Given the description of an element on the screen output the (x, y) to click on. 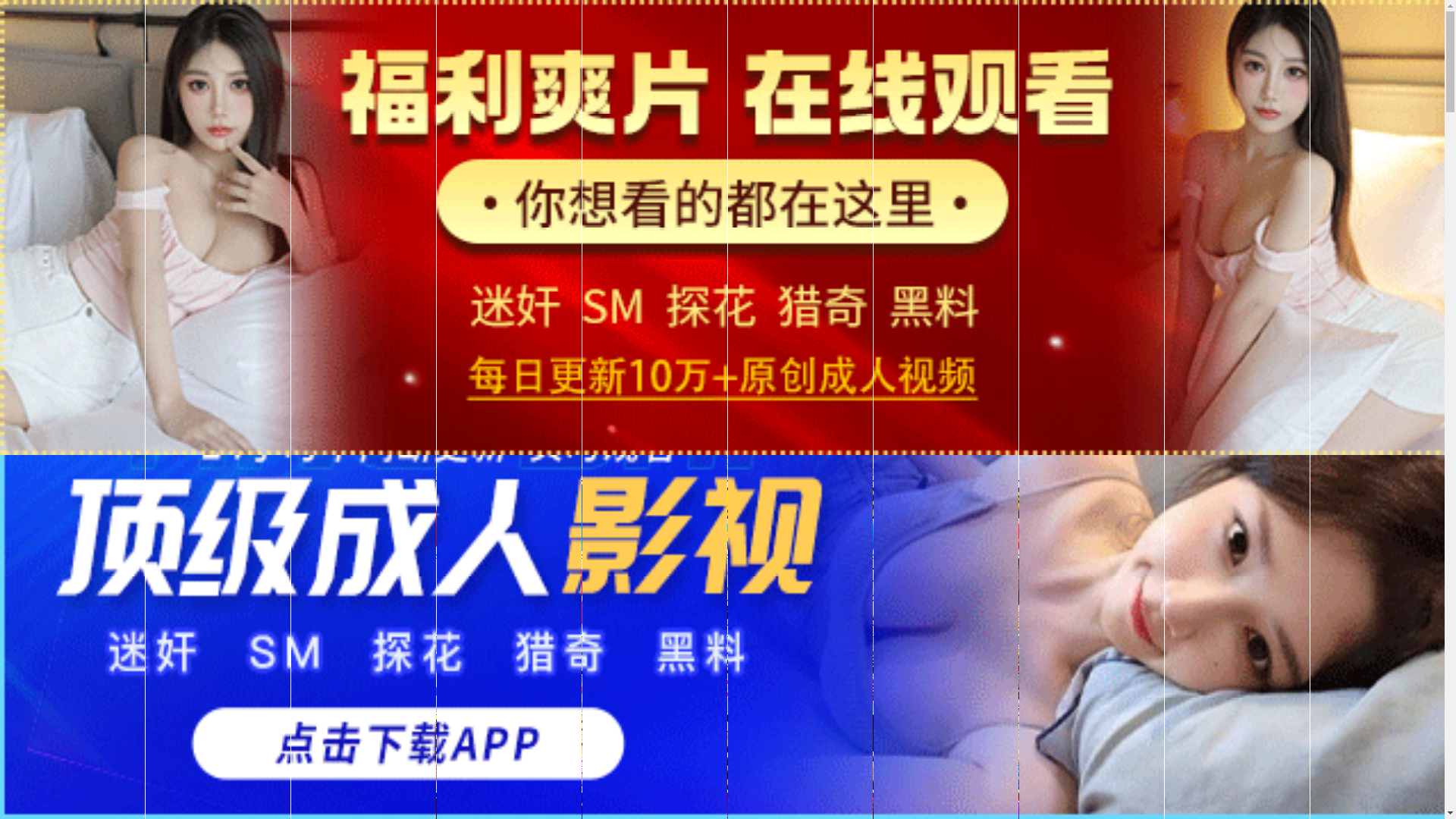
| Element type: text (1381, 471)
| Element type: text (772, 471)
| Element type: text (725, 471)
| Element type: text (913, 471)
| Element type: text (959, 471)
| Element type: text (851, 471)
| Element type: text (1423, 471)
| Element type: text (1190, 471)
| Element type: text (1226, 471)
| Element type: text (662, 471)
6686 Element type: hover (721, 747)
| Element type: text (1098, 471)
6686 Element type: hover (721, 669)
| Element type: text (1006, 471)
| Element type: text (1049, 471)
| Element type: text (685, 471)
| Element type: text (1155, 471)
6686 Element type: hover (721, 552)
| Element type: text (1338, 471)
| Element type: text (812, 471)
| Element type: text (1281, 471)
